Given the description of an element on the screen output the (x, y) to click on. 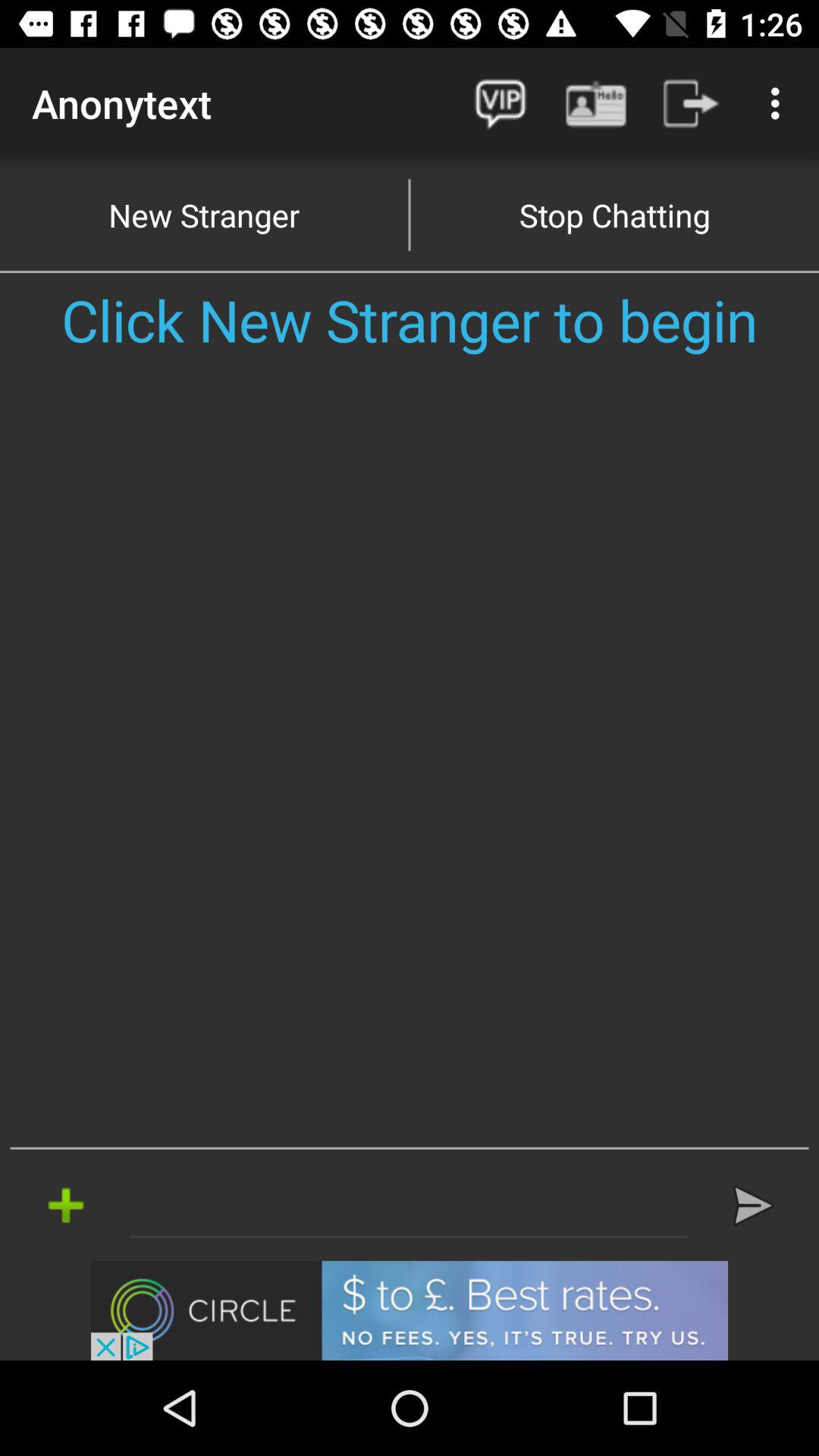
visit advertiser (409, 1310)
